Given the description of an element on the screen output the (x, y) to click on. 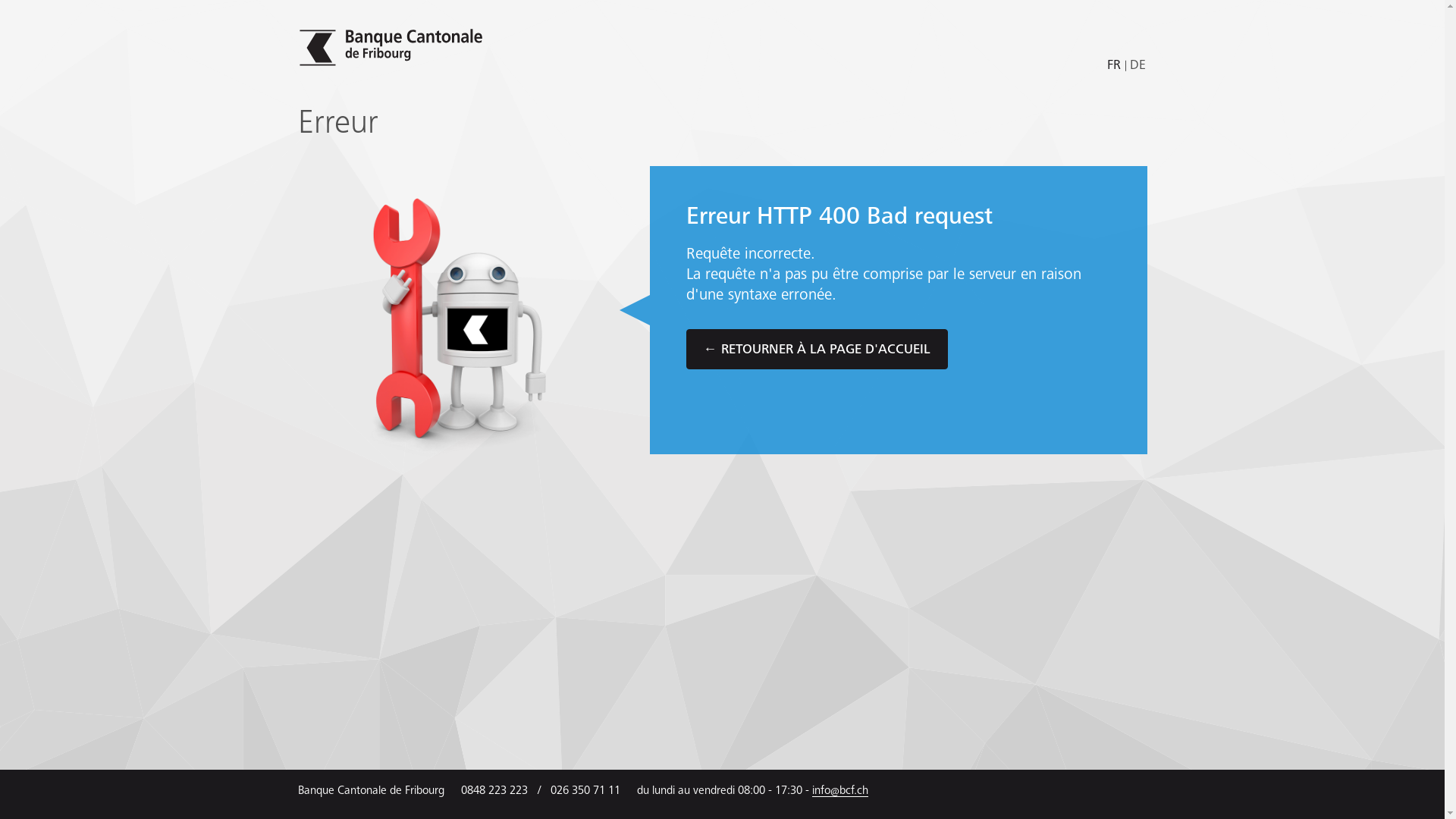
Home Element type: hover (392, 47)
DE Element type: text (1136, 65)
0848 223 223 Element type: text (494, 790)
026 350 71 11 Element type: text (585, 790)
FR Element type: text (1115, 65)
info@bcf.ch Element type: text (839, 790)
